Given the description of an element on the screen output the (x, y) to click on. 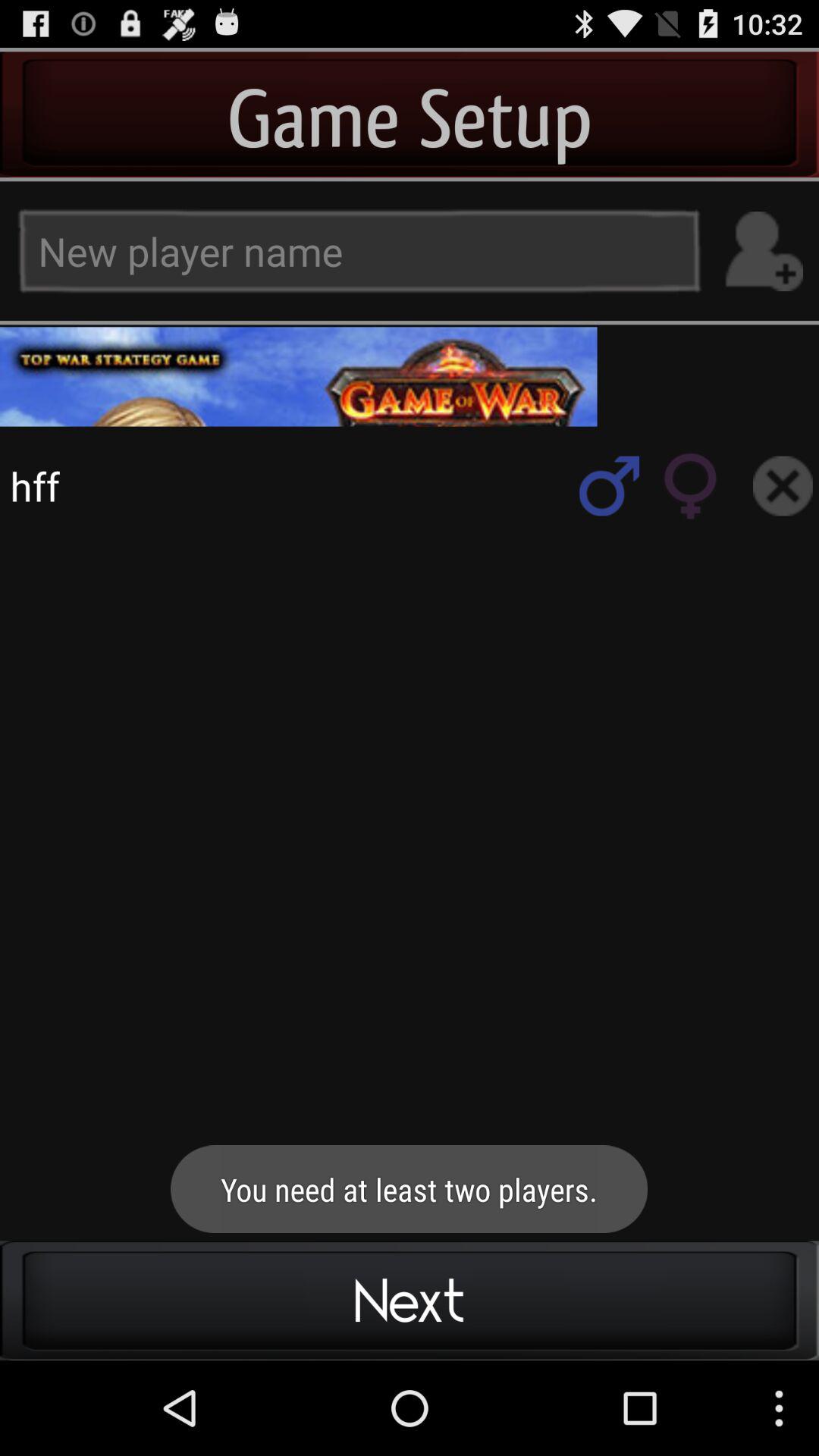
click to delete (782, 485)
